Given the description of an element on the screen output the (x, y) to click on. 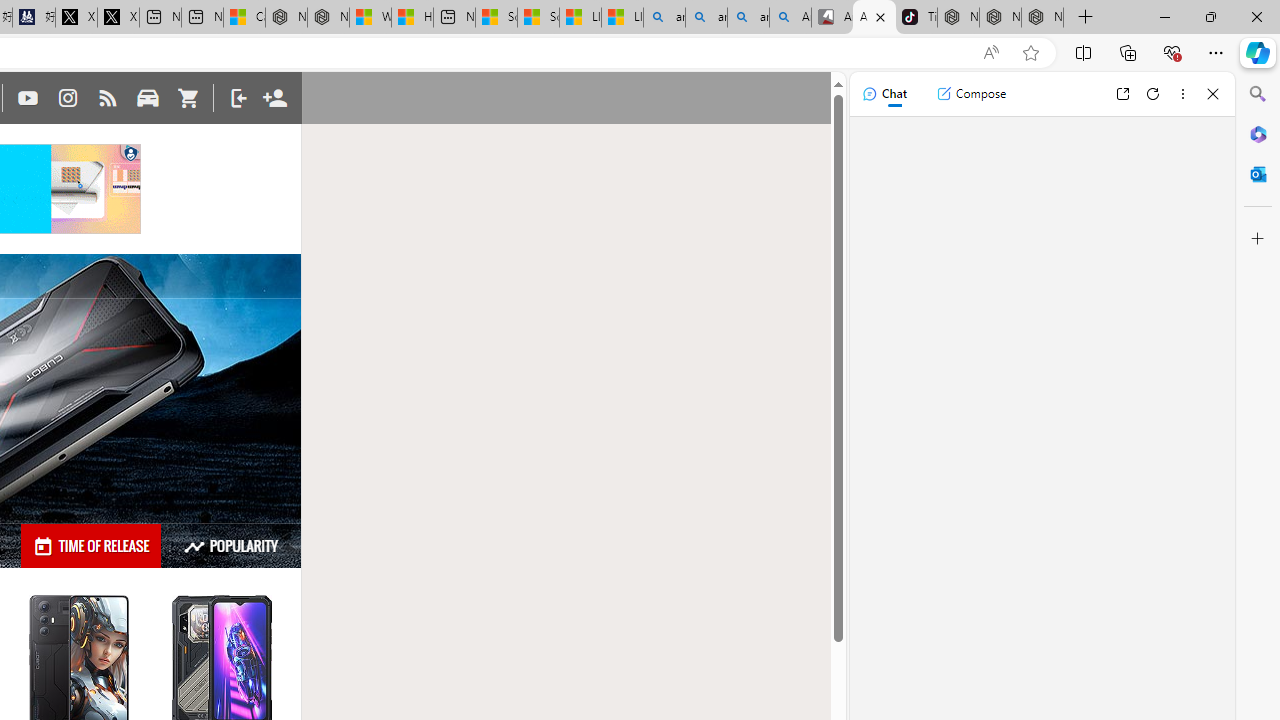
amazon - Search Images (748, 17)
Chat (884, 93)
Nordace - Siena Pro 15 Essential Set (1042, 17)
